Given the description of an element on the screen output the (x, y) to click on. 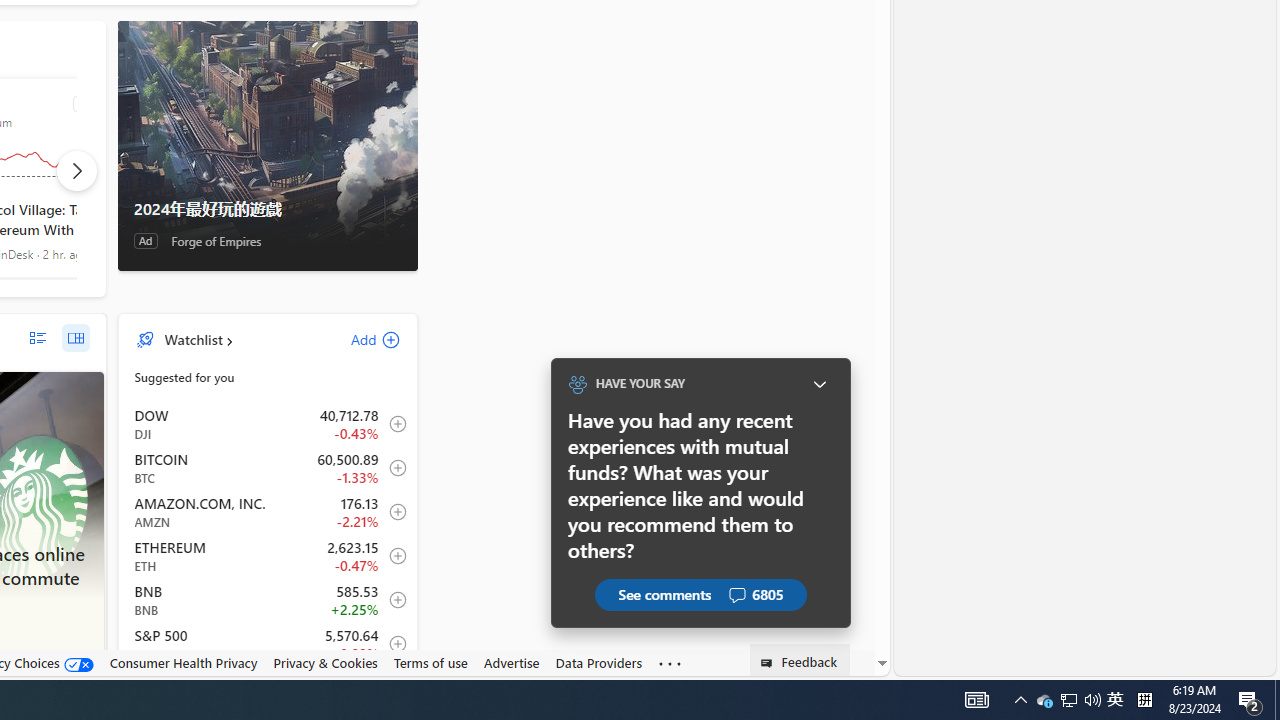
Consumer Health Privacy (183, 663)
Data Providers (598, 663)
BTC Bitcoin decrease 60,500.89 -806.48 -1.33% item1 (267, 467)
Class: oneFooter_seeMore-DS-EntryPoint1-1 (669, 663)
Watchlist (192, 339)
AMZN AMAZON.COM, INC. decrease 176.13 -3.98 -2.21% item2 (267, 512)
Consumer Health Privacy (183, 662)
Privacy & Cookies (324, 662)
grid layout (75, 338)
ETH Ethereum decrease 2,623.15 -12.43 -0.47% item3 (267, 556)
INX S&P 500 decrease 5,570.64 -50.21 -0.89% item5 (267, 644)
list layout (37, 338)
